Given the description of an element on the screen output the (x, y) to click on. 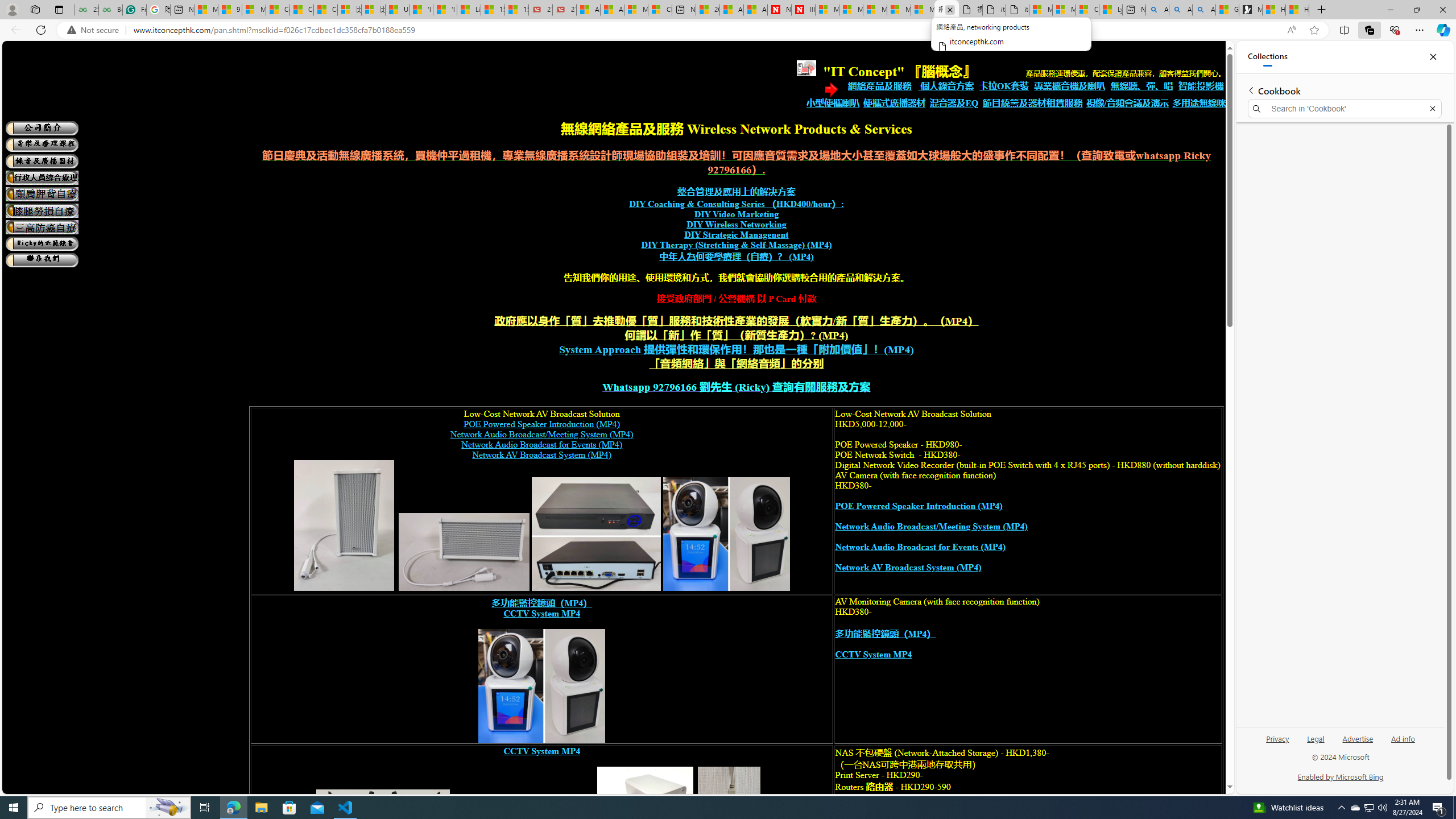
Illness news & latest pictures from Newsweek.com (802, 9)
wireless network camera, (542, 685)
